Given the description of an element on the screen output the (x, y) to click on. 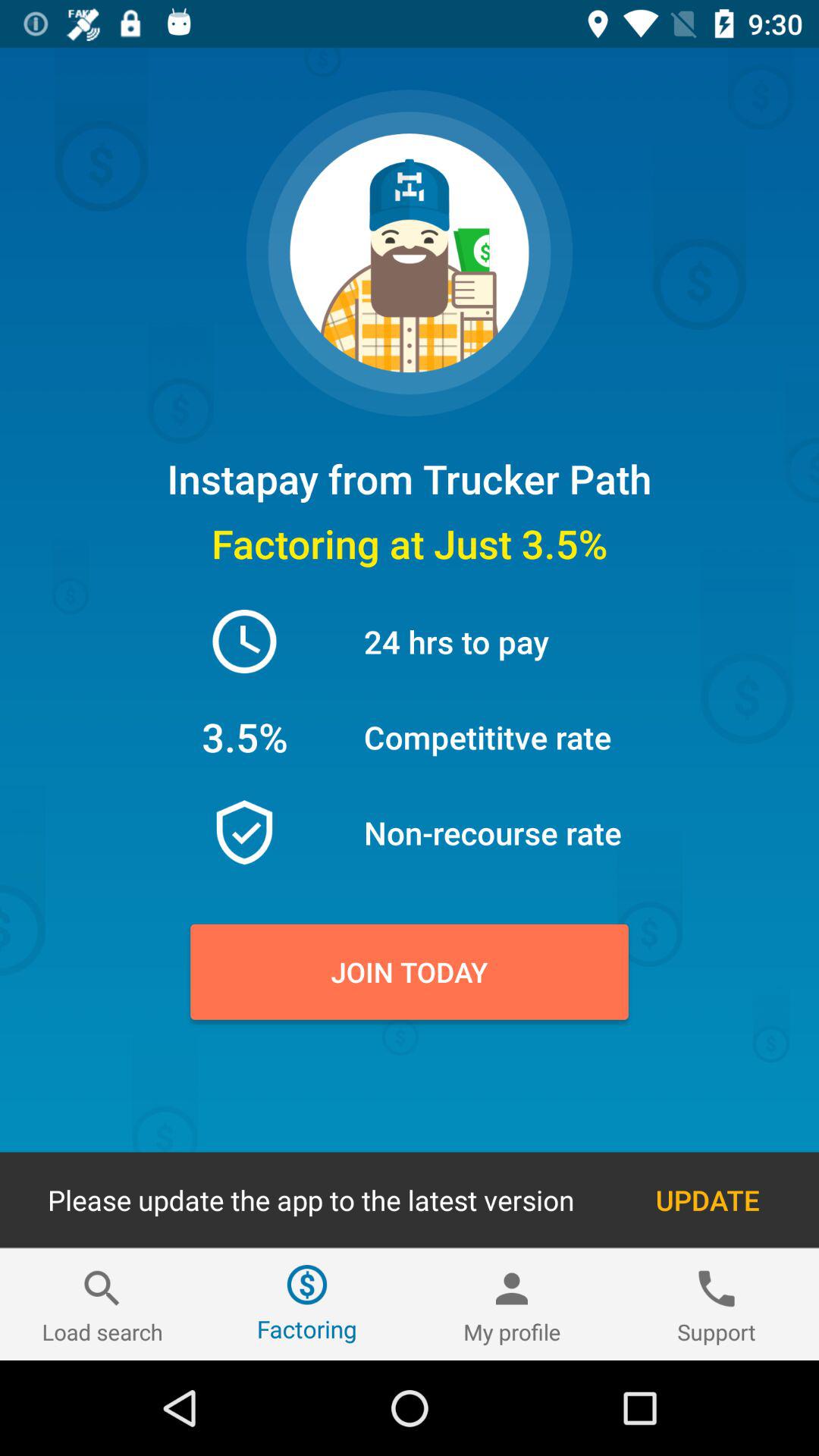
choose the icon above update (409, 971)
